Given the description of an element on the screen output the (x, y) to click on. 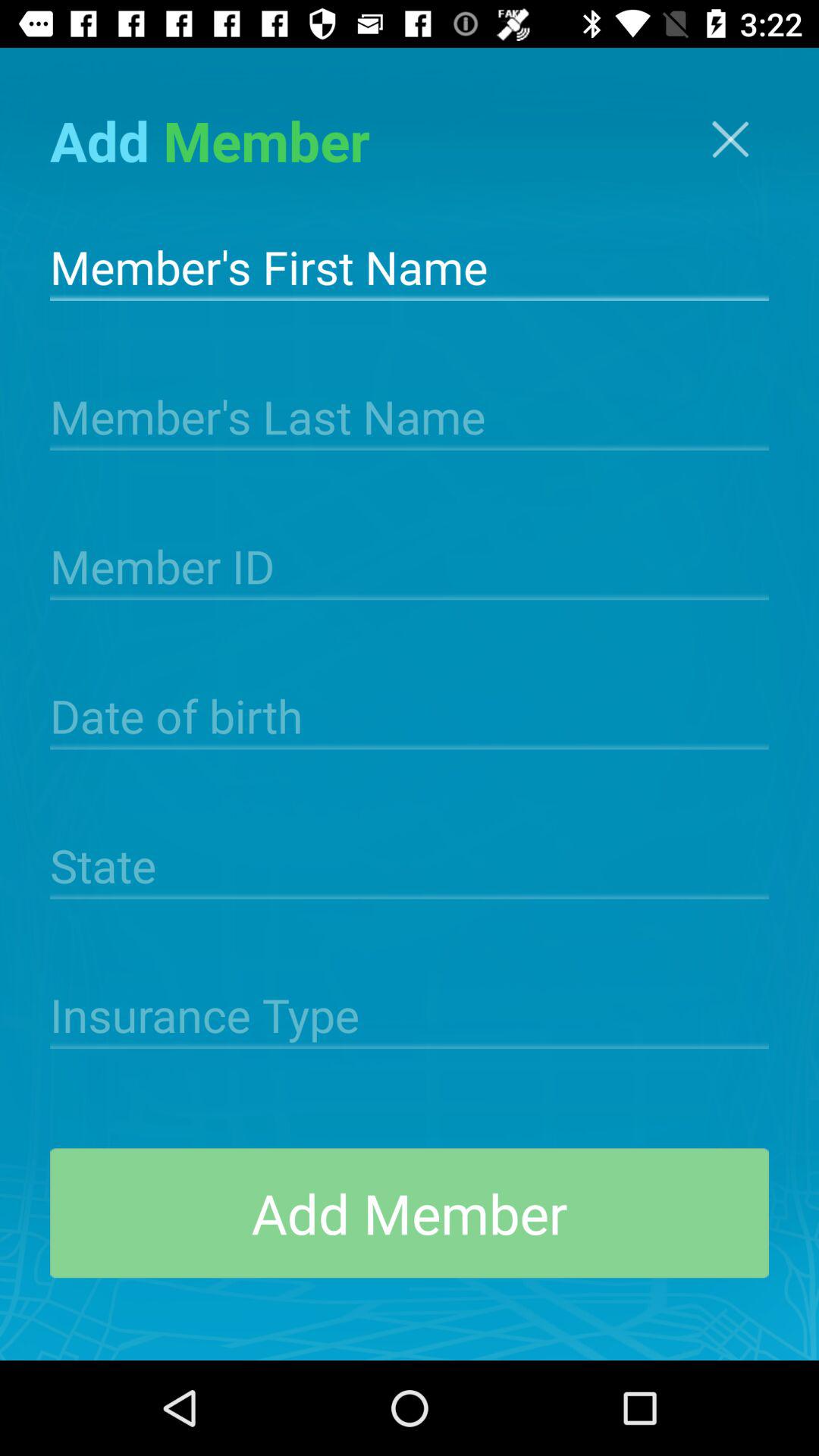
go to name (409, 265)
